Given the description of an element on the screen output the (x, y) to click on. 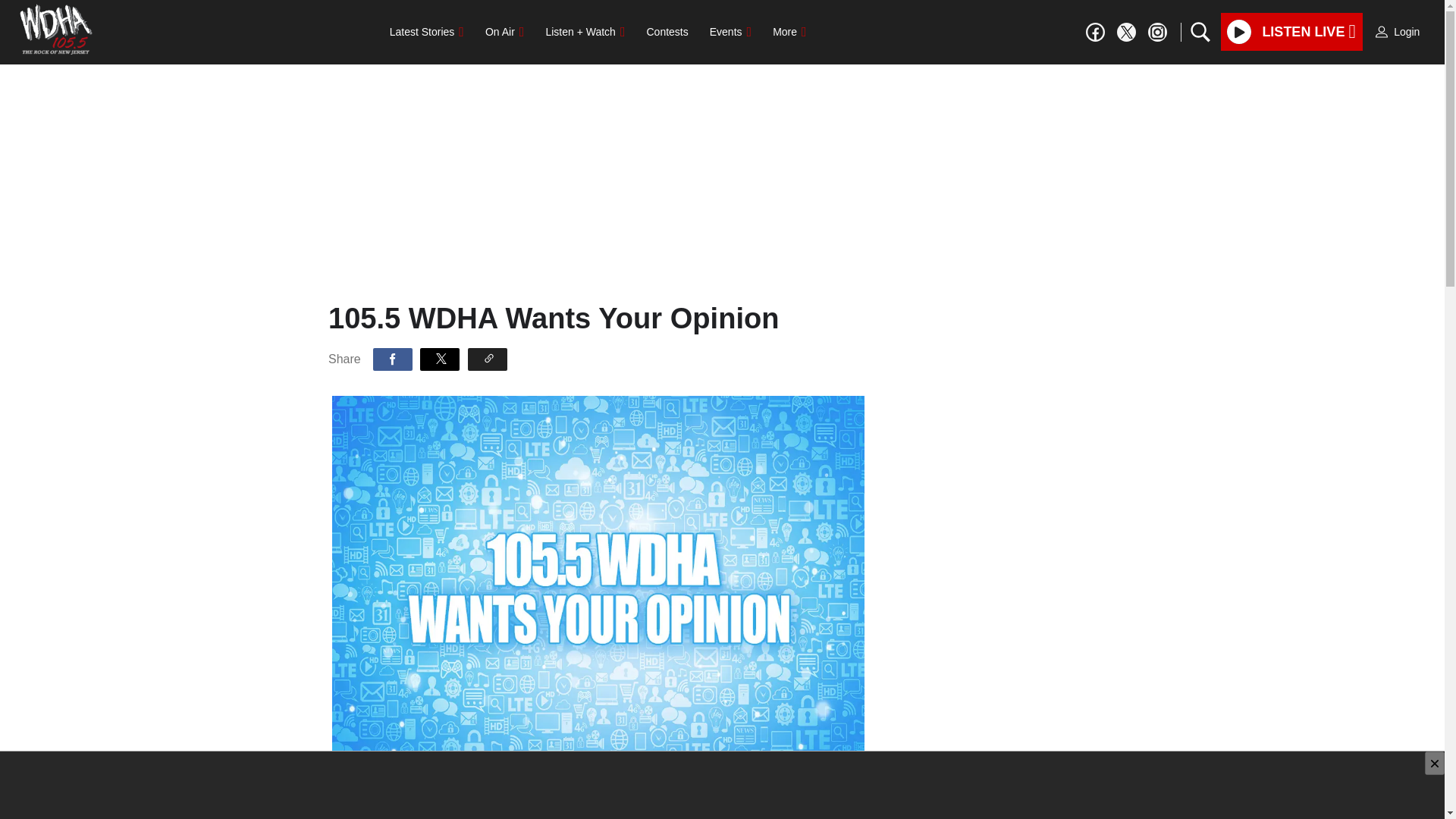
On Air (504, 31)
Close AdCheckmark indicating ad close (1434, 763)
Latest Stories (426, 31)
